Given the description of an element on the screen output the (x, y) to click on. 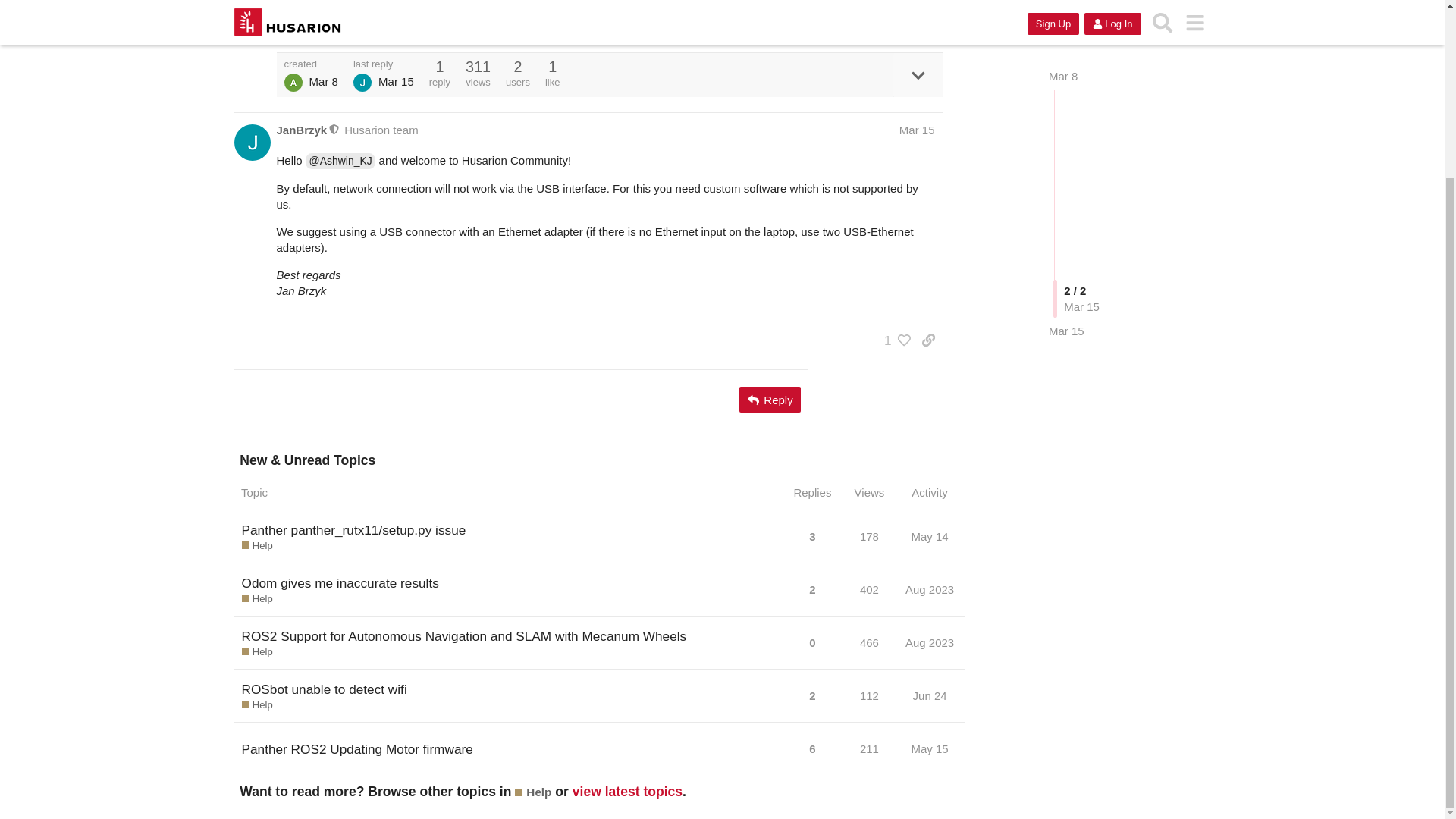
Help (256, 599)
Reply (770, 399)
expand topic details (917, 75)
May 14 (929, 536)
like this post (896, 23)
1 (893, 339)
This user is a moderator (334, 129)
Mar 8, 2024 1:37 am (322, 81)
Jan Brzyk (362, 82)
Aug 2023 (929, 589)
Help (256, 545)
Help (256, 652)
Mar 15, 2024 7:03 pm (395, 81)
Ashwin Kandheri Jayaraman (292, 82)
